Given the description of an element on the screen output the (x, y) to click on. 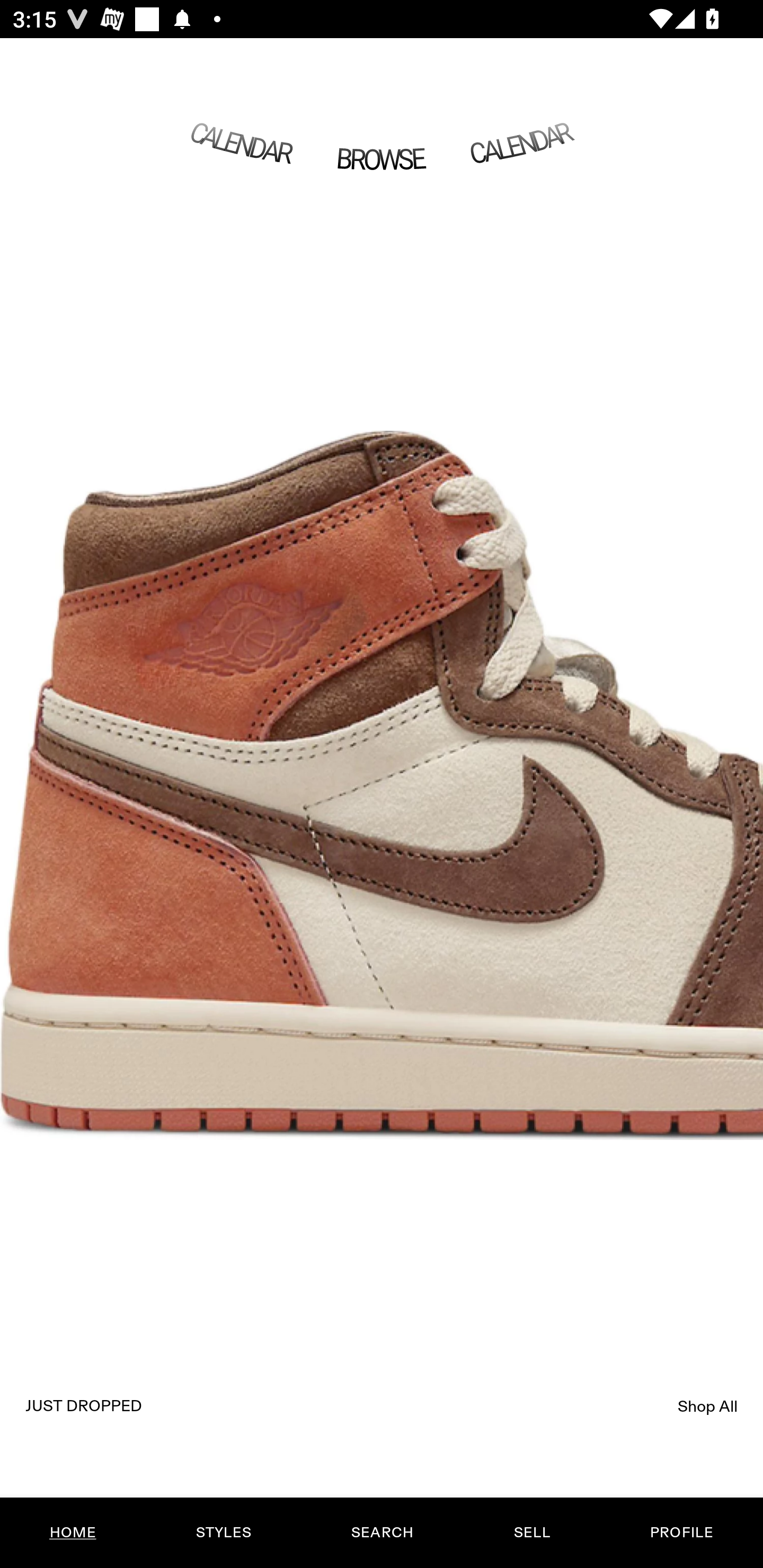
Shop All (707, 1406)
HOME (72, 1532)
STYLES (222, 1532)
SEARCH (381, 1532)
SELL (531, 1532)
PROFILE (681, 1532)
